Given the description of an element on the screen output the (x, y) to click on. 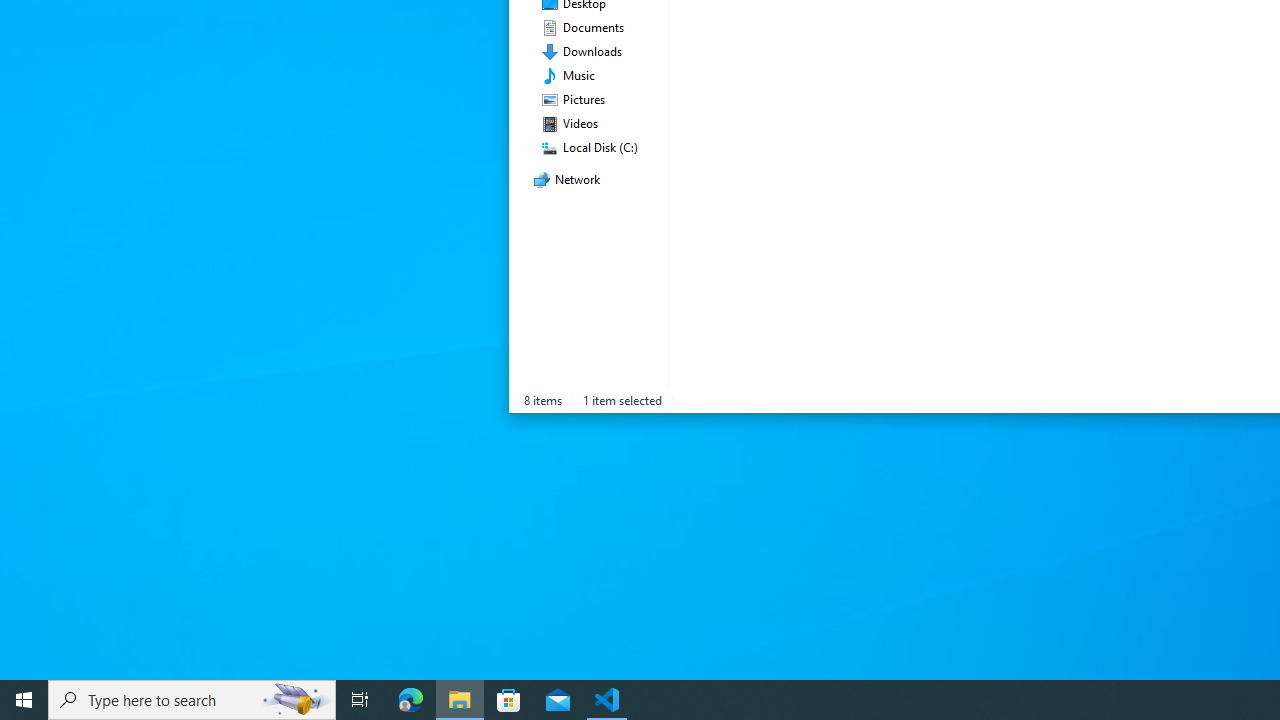
File Explorer - 1 running window (460, 699)
